Given the description of an element on the screen output the (x, y) to click on. 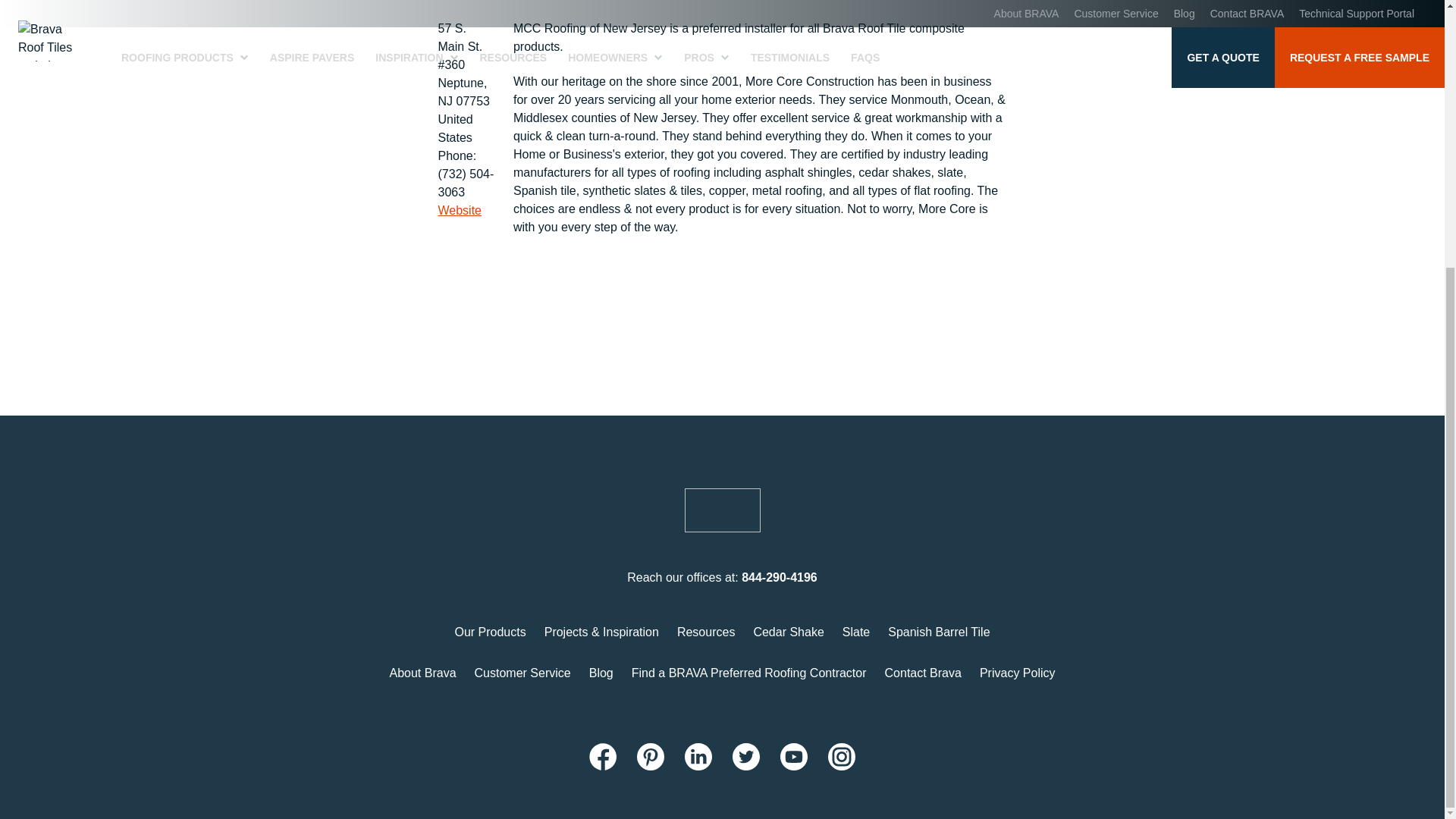
Visit Brava Roof Tile on Pinterest (650, 756)
Visit Brava Roof Tile on LinkedIn (697, 756)
Visit Brava Roof Tile on Twitter (746, 756)
Visit Brava Roof Tile on Instagram (842, 756)
Visit Brava Roof Tile on YouTube (794, 756)
Visit Brava Roof Tile on Facebook (602, 756)
